Given the description of an element on the screen output the (x, y) to click on. 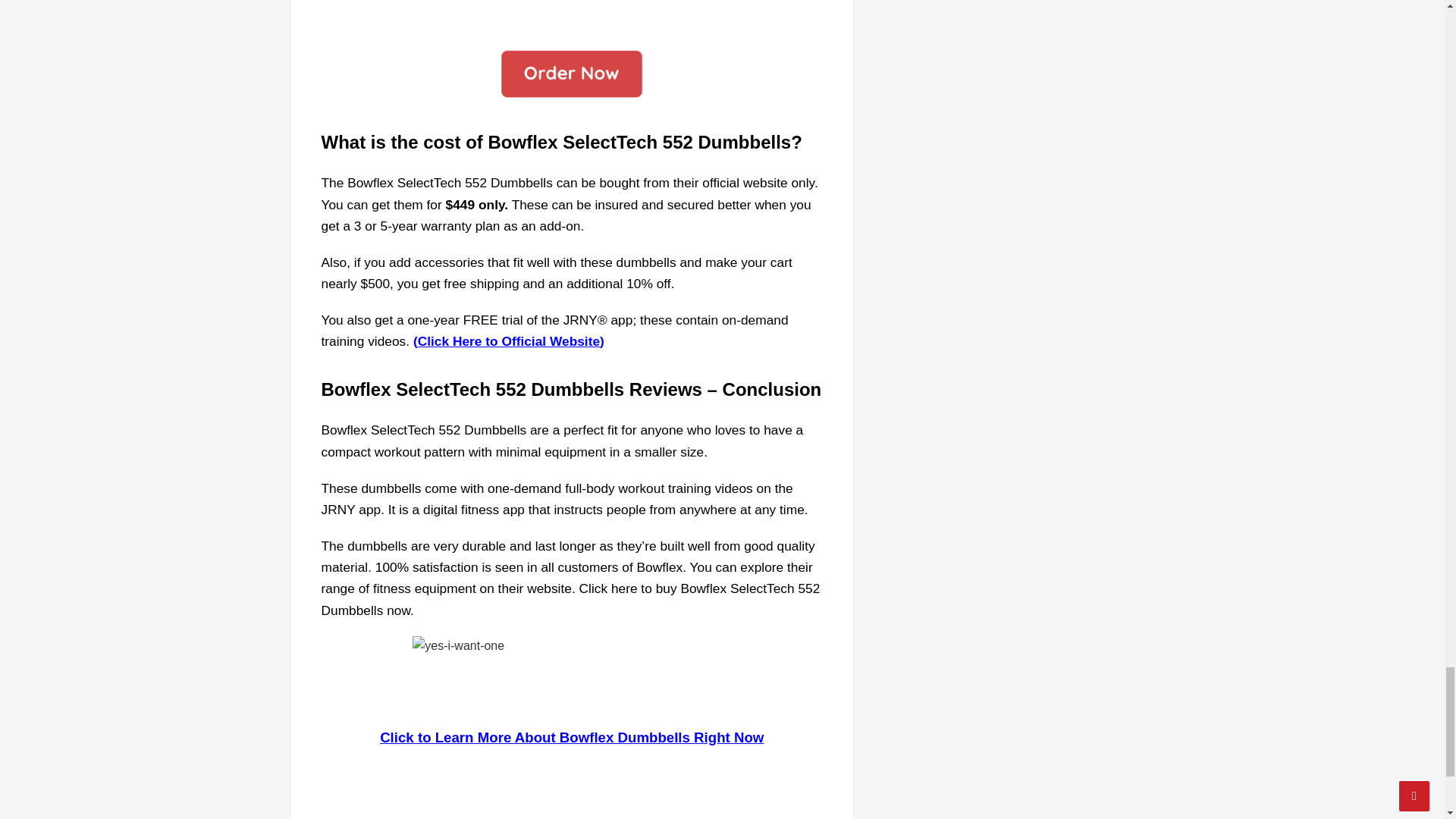
Bowflex Dumbbells Reviews 8 (571, 673)
full-body workout (611, 488)
Bowflex Dumbbells Reviews 6 (571, 15)
Bowflex Dumbbells Reviews 3 (571, 75)
